Given the description of an element on the screen output the (x, y) to click on. 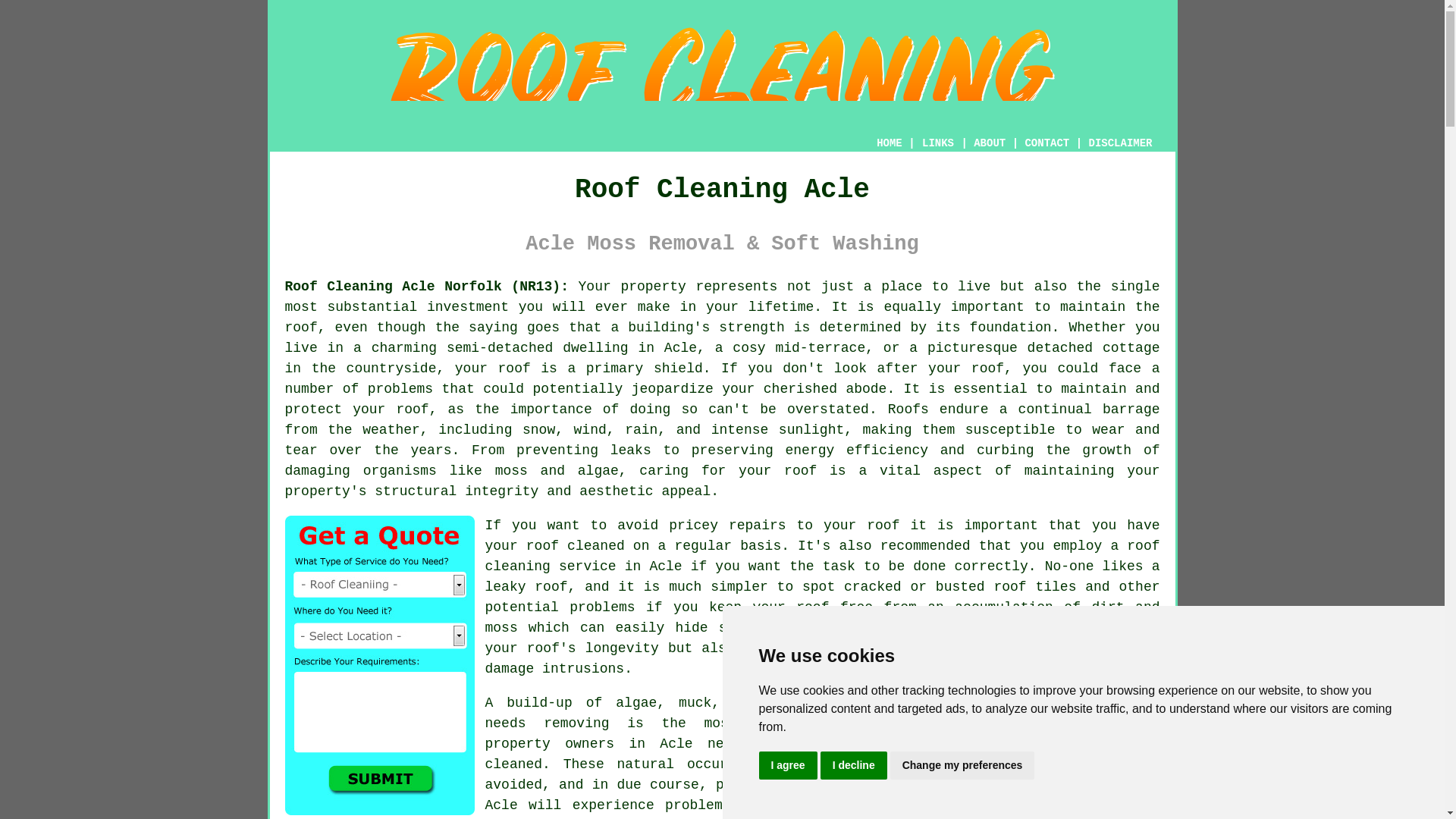
I agree (787, 765)
Roof Cleaning Acle (1046, 755)
HOME (889, 143)
maintain (1093, 388)
Roof Cleaning Acle (722, 73)
I decline (853, 765)
Change my preferences (962, 765)
LINKS (938, 142)
roof (800, 470)
